Given the description of an element on the screen output the (x, y) to click on. 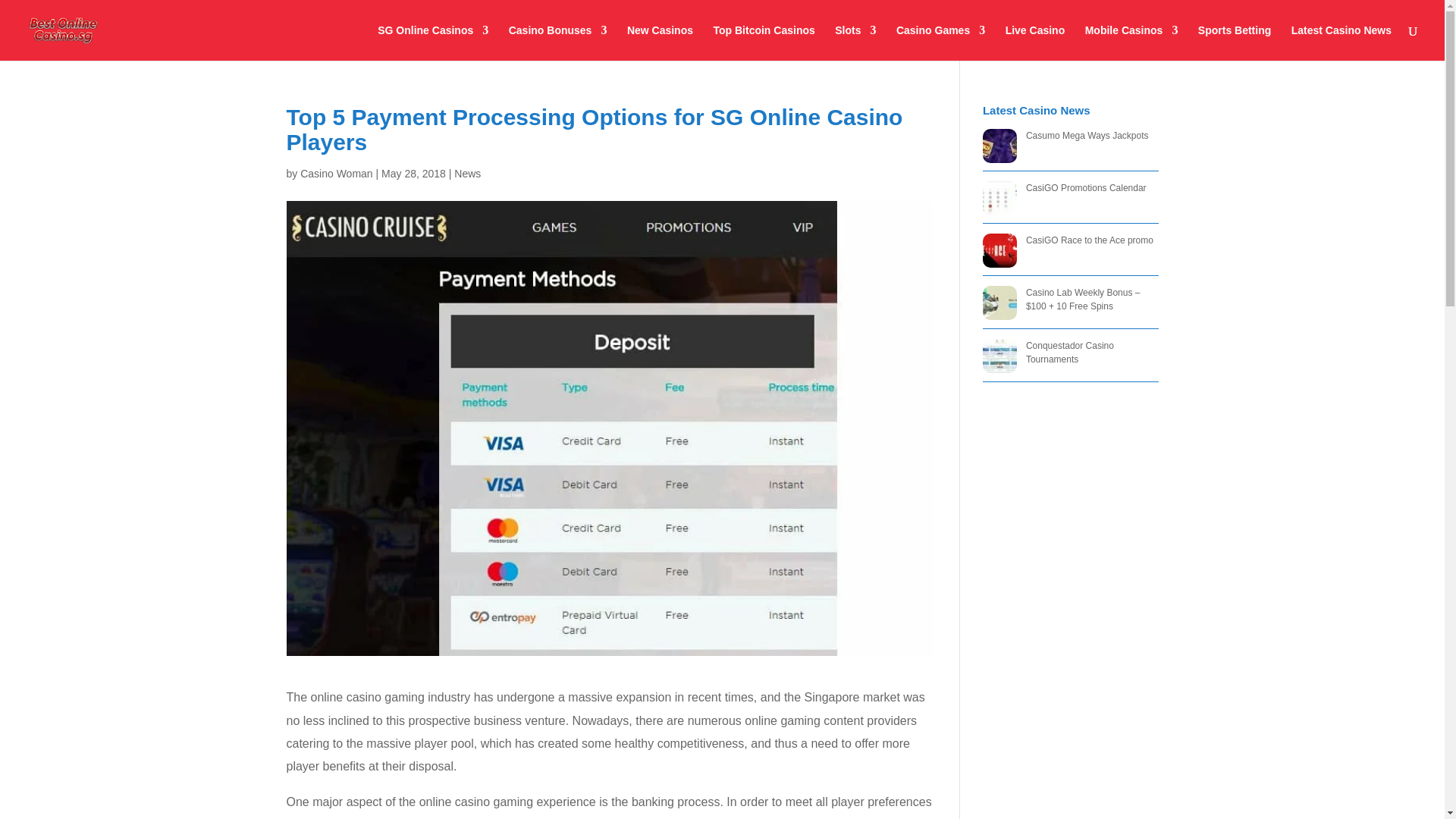
Latest Casino News (1341, 42)
New Casinos (660, 42)
Top Bitcoin Casinos (763, 42)
Casino Games (940, 42)
Sports Betting (1234, 42)
Posts by Casino Woman (335, 173)
Mobile Casinos (1130, 42)
Live Casino (1035, 42)
Slots (855, 42)
SG Online Casinos (432, 42)
